Given the description of an element on the screen output the (x, y) to click on. 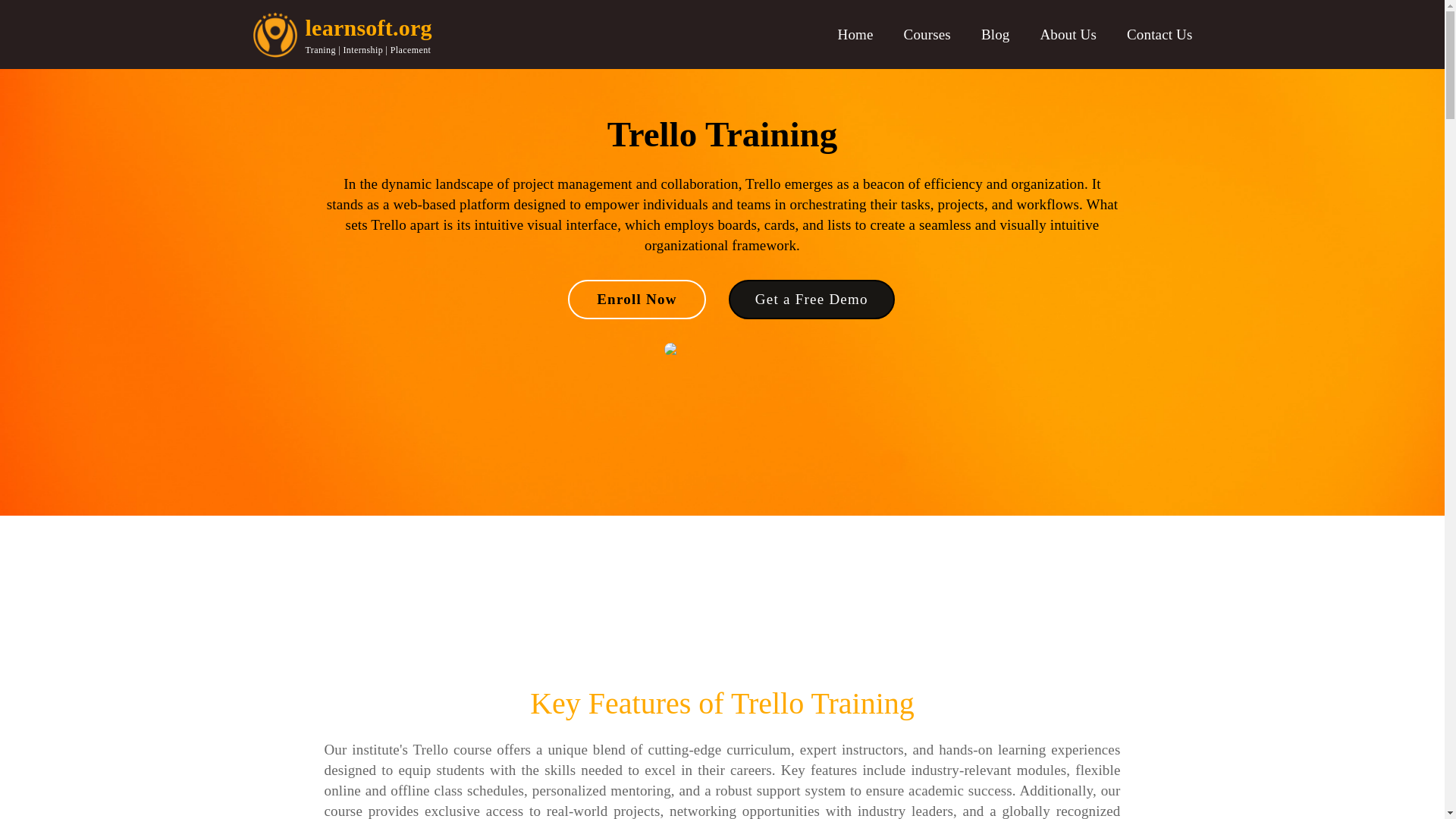
learnsoft.org (367, 27)
Home (855, 34)
Get a Free Demo (812, 299)
Enroll Now (628, 299)
Enroll Now (636, 299)
Contact Us (1159, 34)
About Us (1067, 34)
Blog (995, 34)
Courses (927, 34)
